Given the description of an element on the screen output the (x, y) to click on. 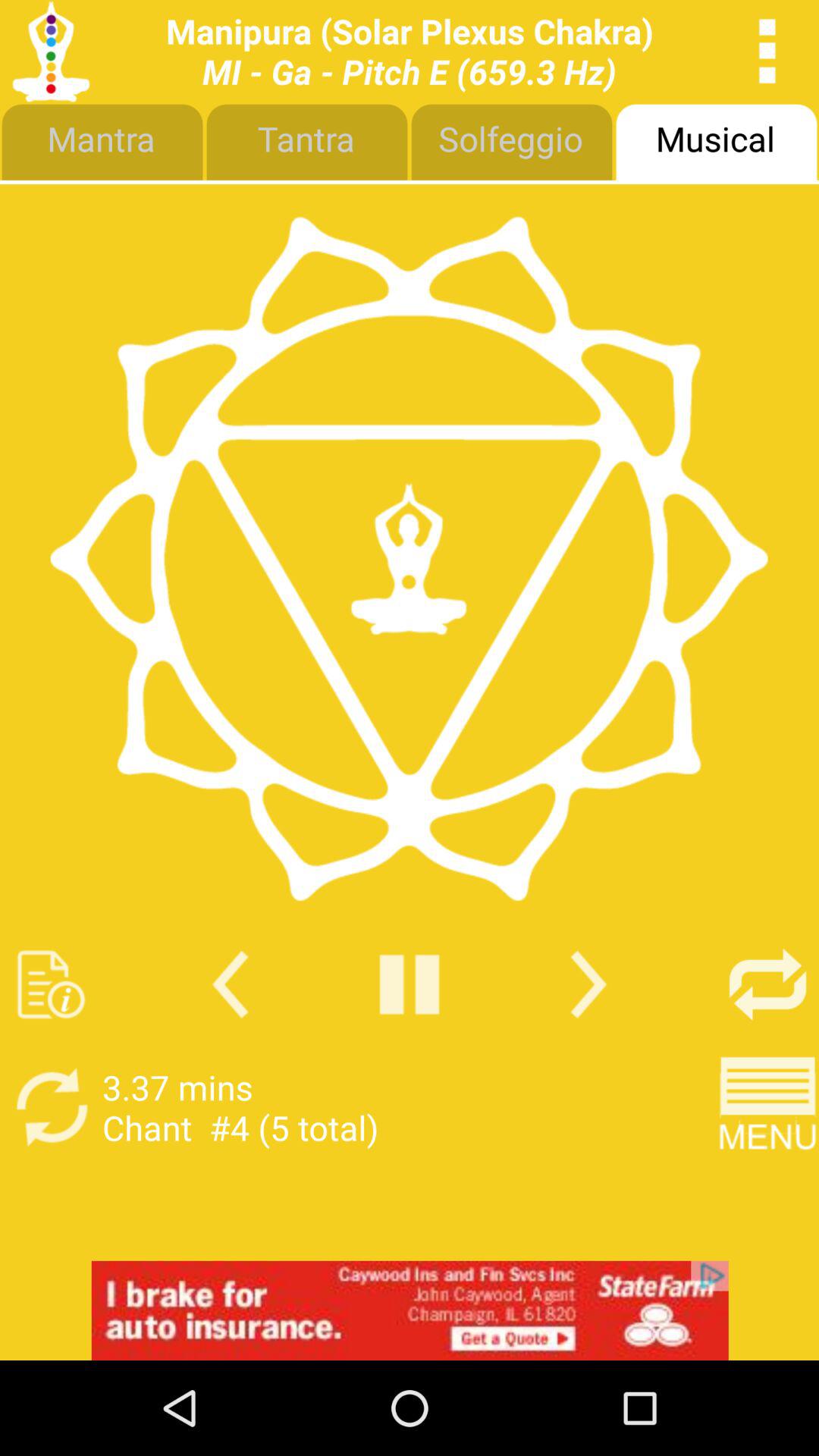
interact with advertisement (409, 1310)
